Given the description of an element on the screen output the (x, y) to click on. 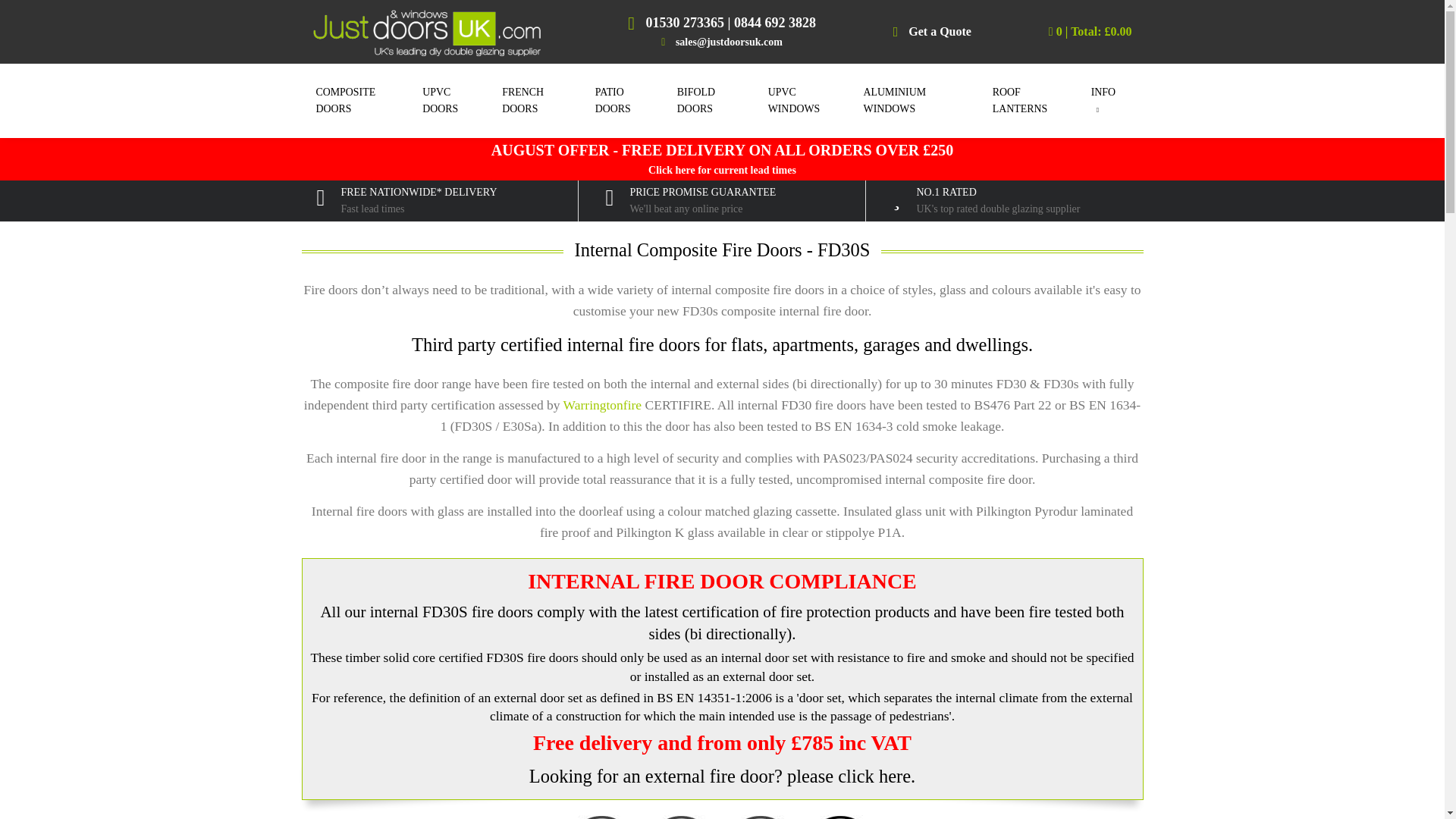
COMPOSITE DOORS (363, 100)
FRENCH DOORS (540, 100)
UPVC DOORS (454, 100)
Get a Quote (939, 31)
